Given the description of an element on the screen output the (x, y) to click on. 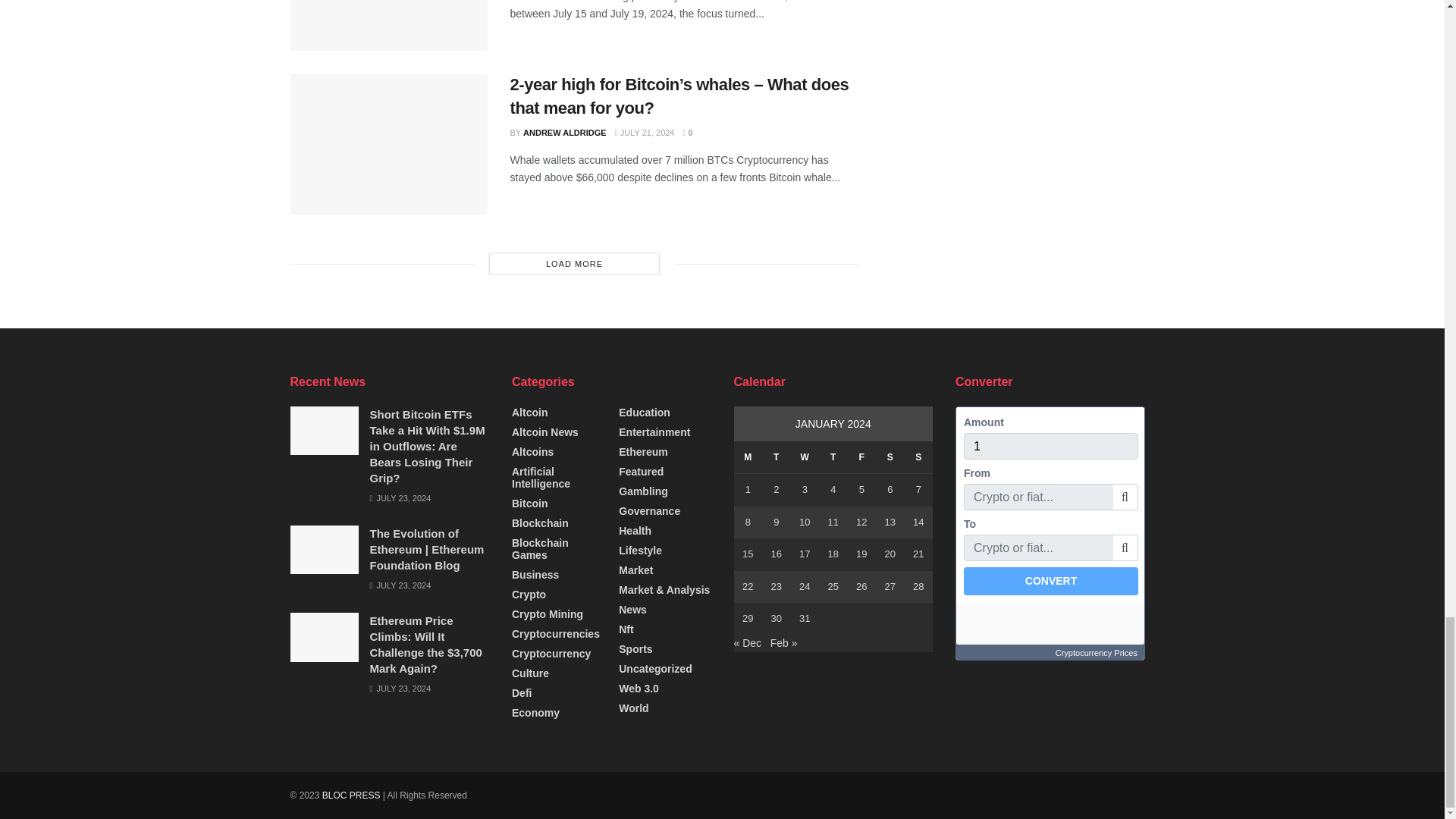
Premium news  (350, 795)
